Given the description of an element on the screen output the (x, y) to click on. 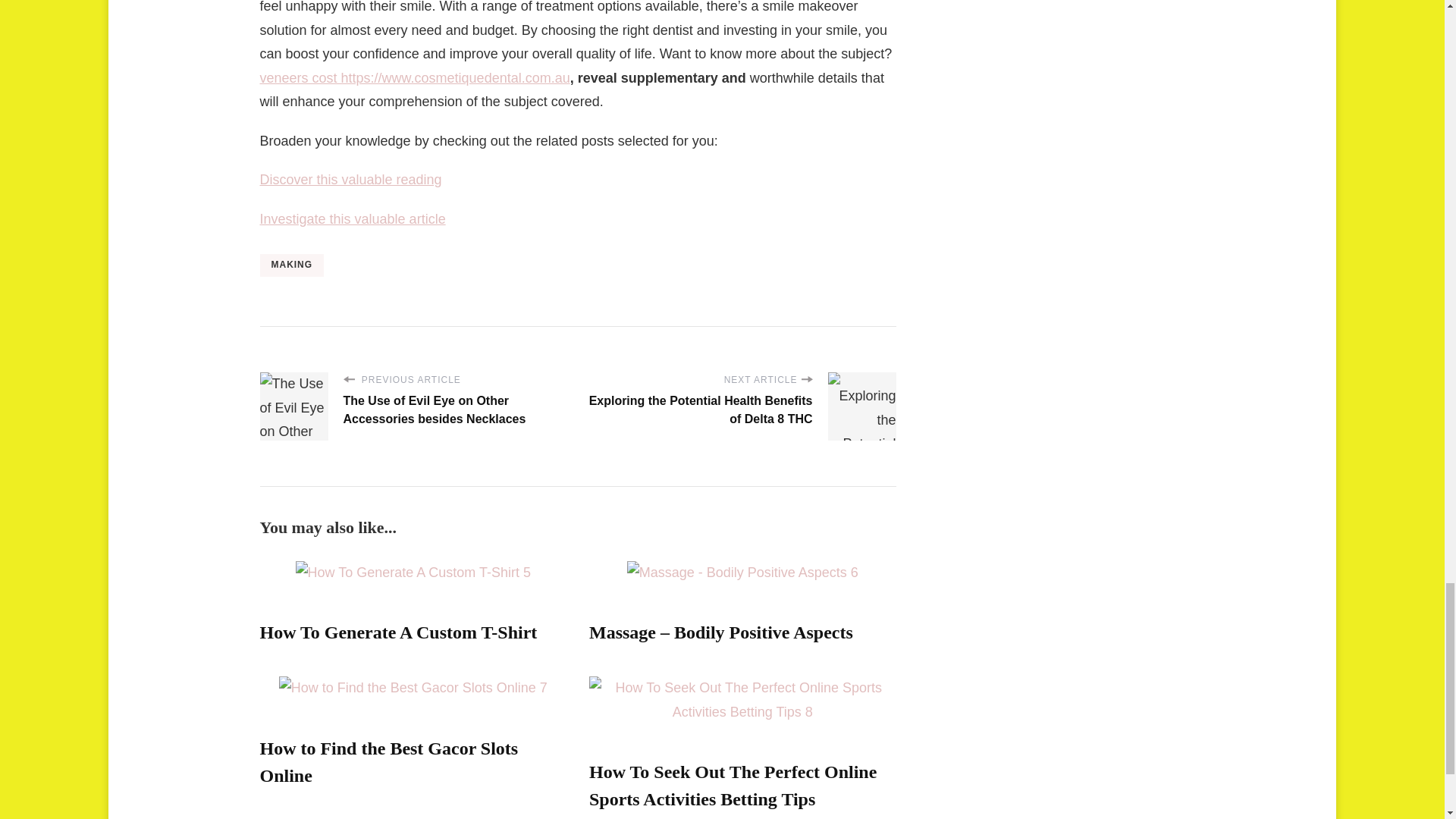
Investigate this valuable article (352, 218)
How to Find the Best Gacor Slots Online (388, 761)
How To Generate A Custom T-Shirt (398, 632)
MAKING (291, 264)
Discover this valuable reading (350, 179)
